Given the description of an element on the screen output the (x, y) to click on. 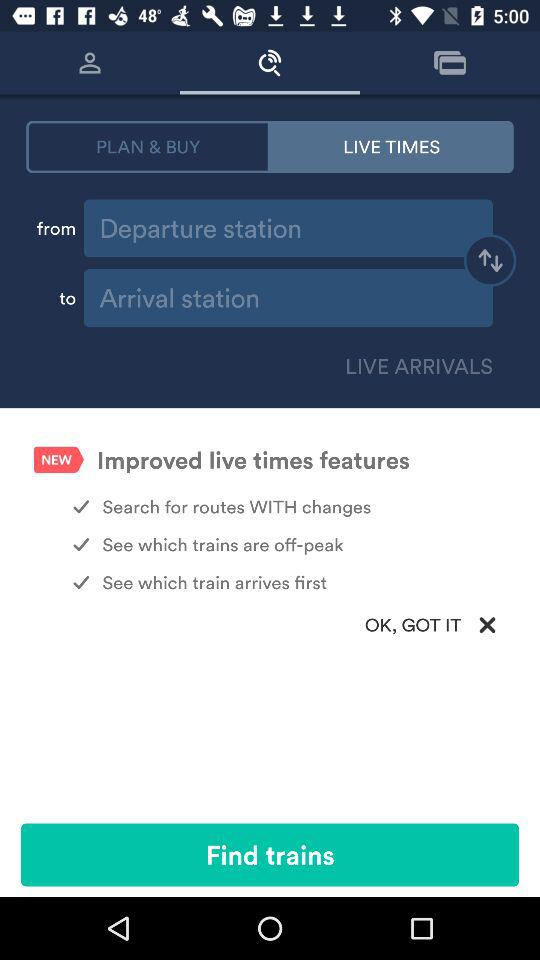
launch the find trains icon (270, 854)
